Given the description of an element on the screen output the (x, y) to click on. 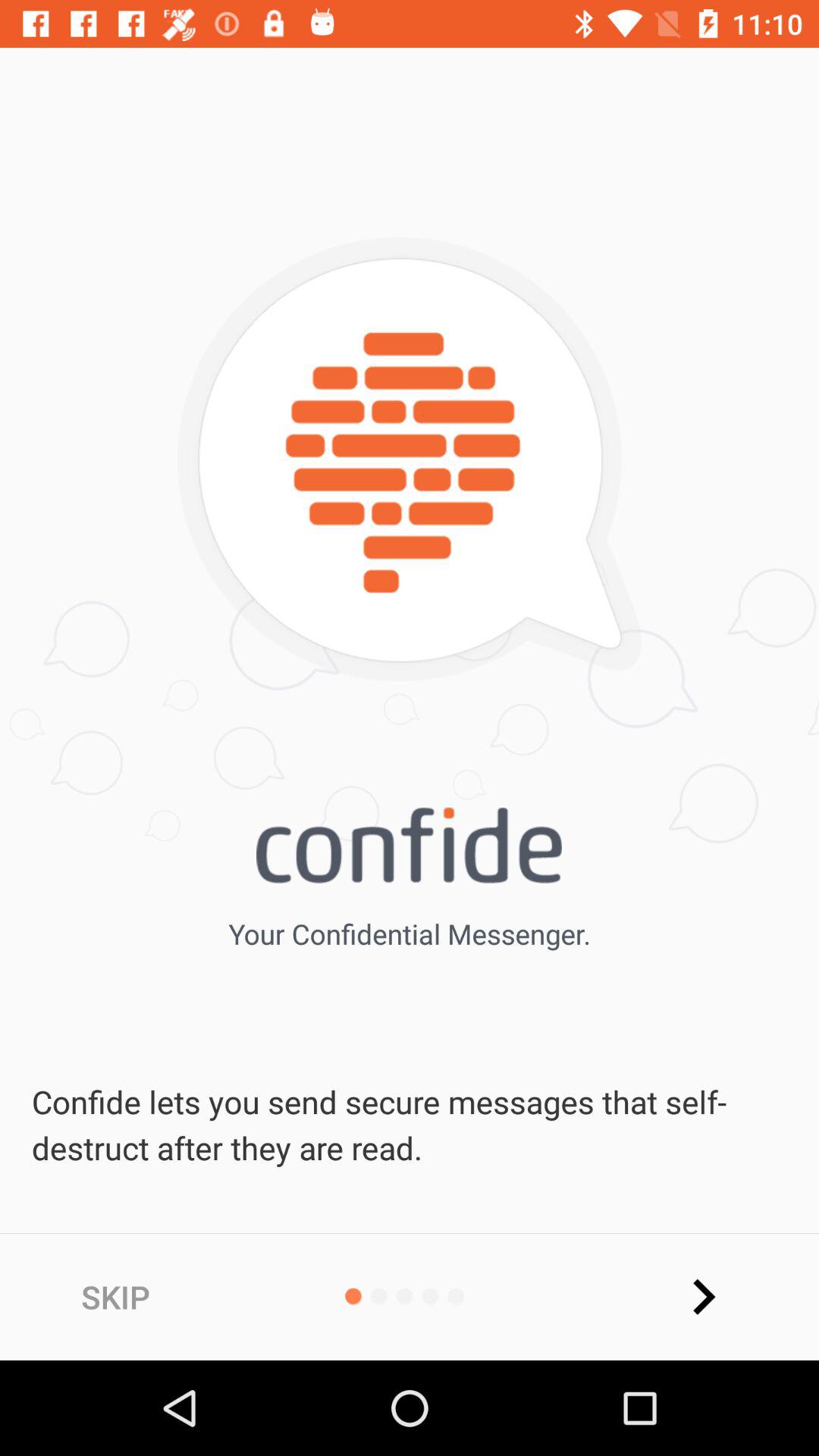
click the icon at the bottom right corner (703, 1296)
